Given the description of an element on the screen output the (x, y) to click on. 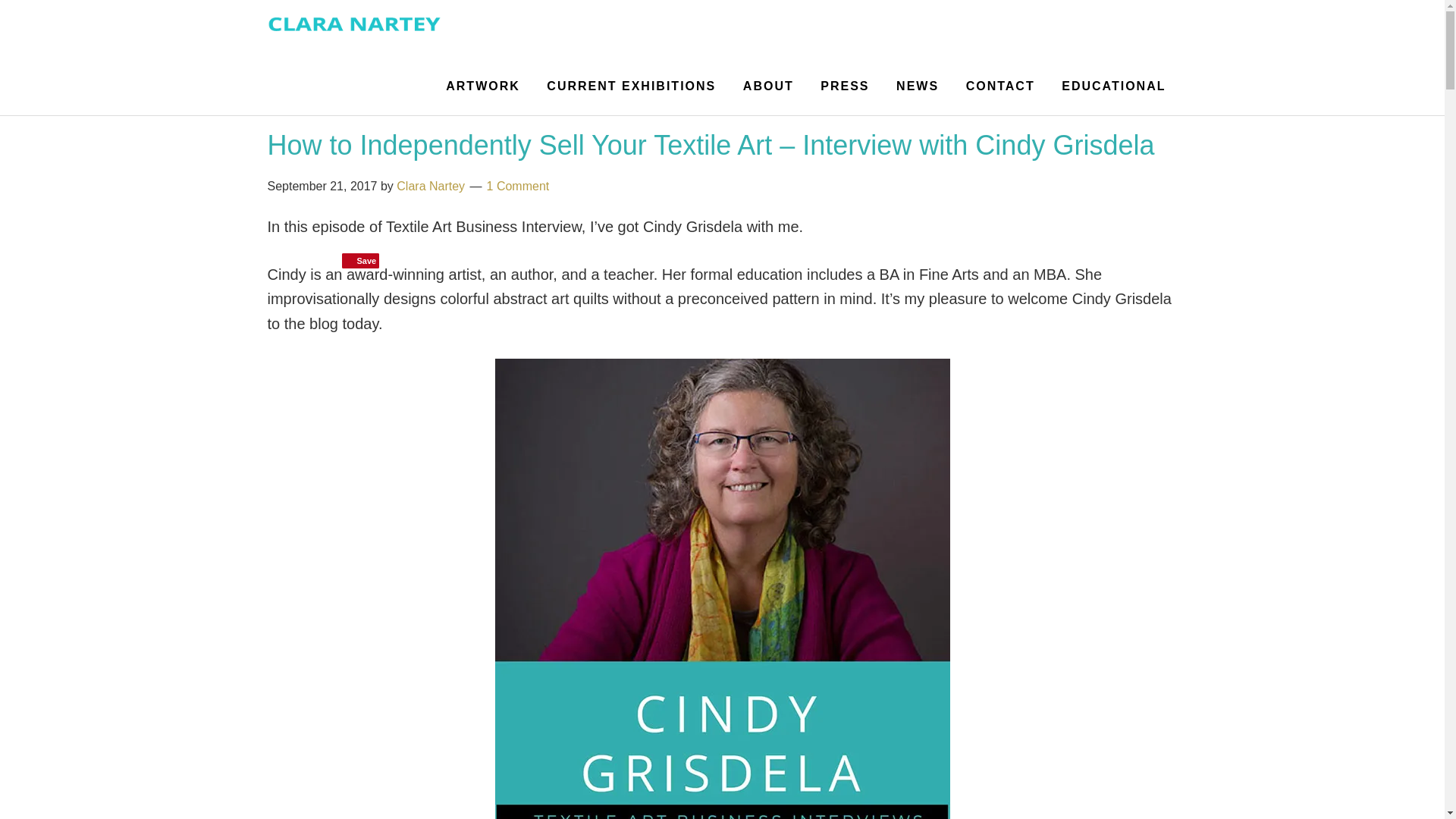
ARTWORK (482, 86)
CURRENT EXHIBITIONS (630, 86)
1 Comment (518, 185)
Clara Nartey (430, 185)
EDUCATIONAL (1112, 86)
NEWS (917, 86)
CONTACT (1000, 86)
PRESS (844, 86)
ABOUT (768, 86)
